Given the description of an element on the screen output the (x, y) to click on. 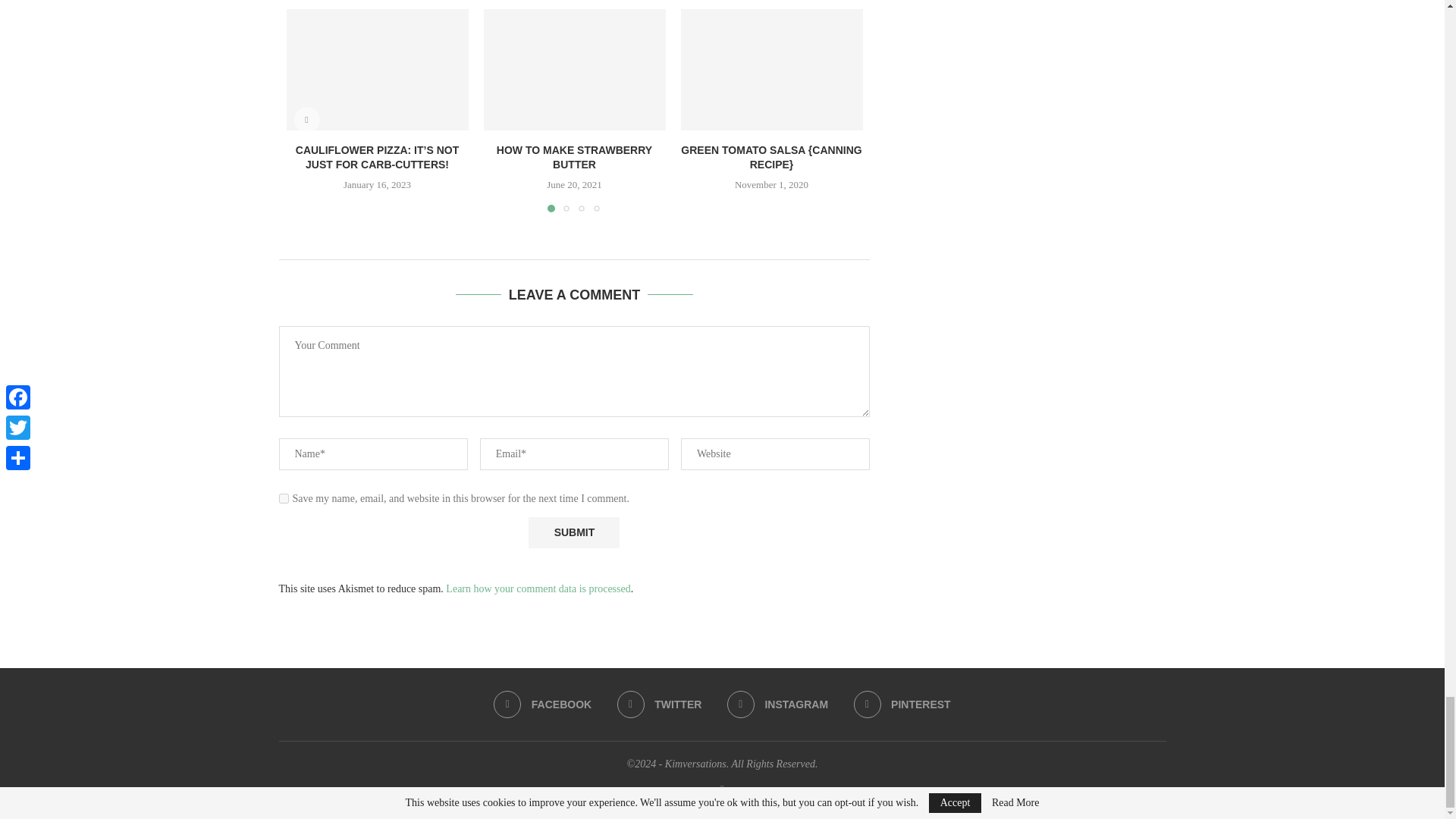
How To Make Strawberry Butter (574, 69)
Submit (574, 531)
yes (283, 498)
